Given the description of an element on the screen output the (x, y) to click on. 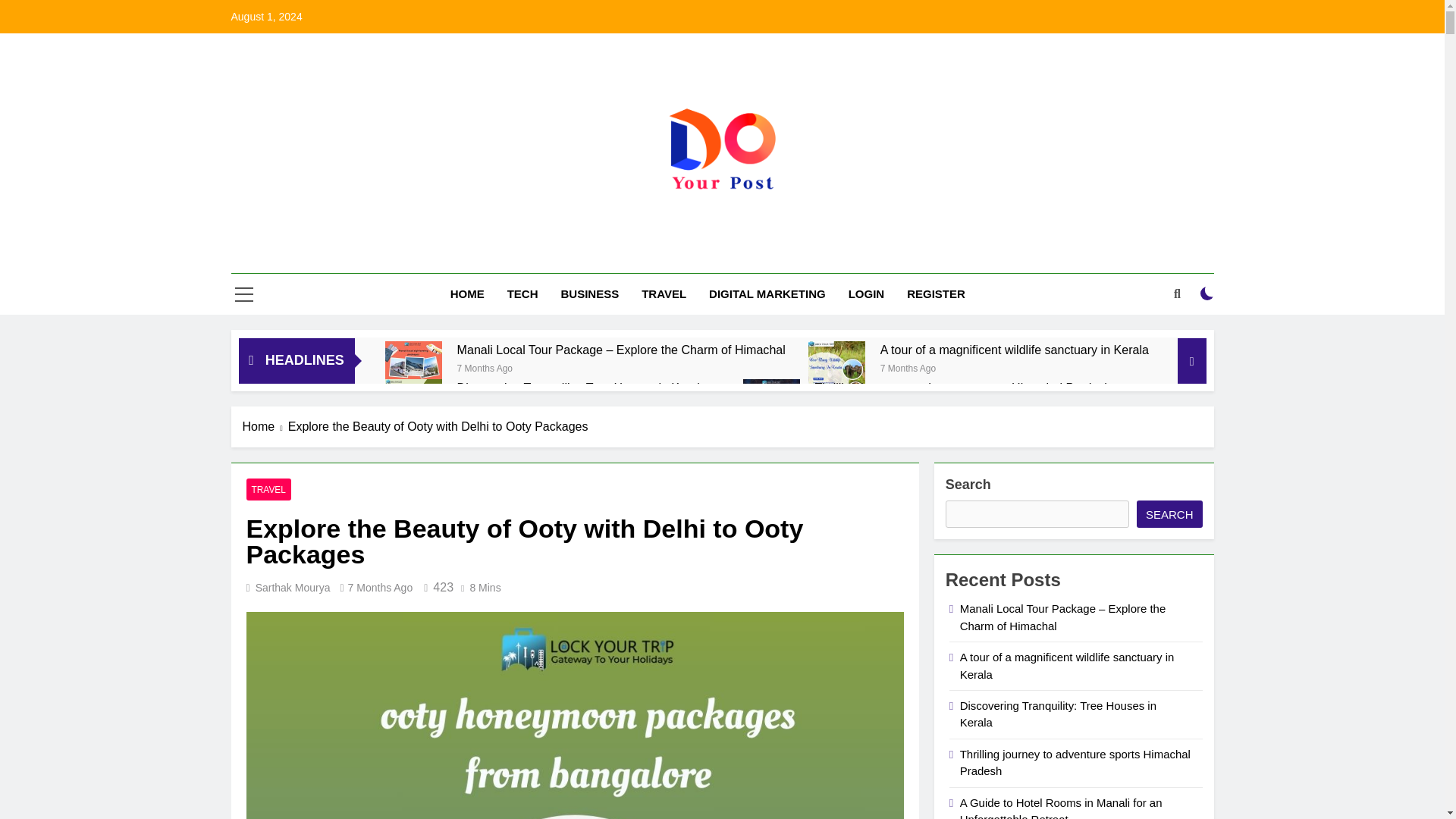
Thrilling journey to adventure sports Himachal Pradesh (963, 387)
Sarthak Mourya (293, 587)
Discovering Tranquility: Tree Houses in Kerala     (588, 387)
7 Months Ago (484, 367)
7 Months Ago (908, 367)
DIGITAL MARKETING (767, 293)
A tour of a magnificent wildlife sanctuary in Kerala (1014, 350)
Thrilling journey to adventure sports Himachal Pradesh (770, 407)
LOGIN (866, 293)
